Given the description of an element on the screen output the (x, y) to click on. 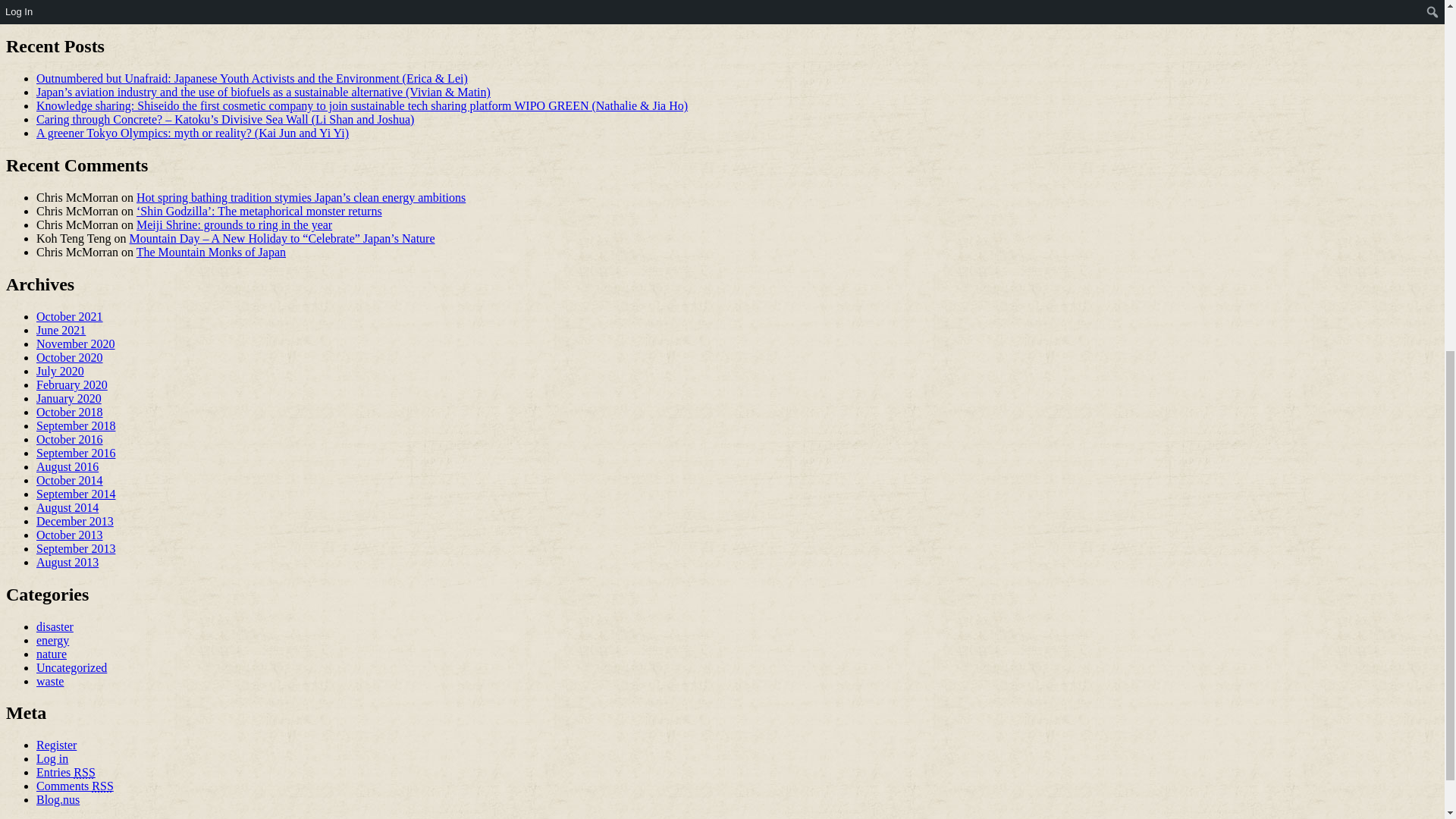
August 2016 (67, 466)
disaster (71, 2)
Powered by Blog.nus (58, 799)
September 2018 (75, 425)
October 2018 (69, 411)
waste (109, 2)
November 2020 (75, 343)
Search (164, 12)
February 2020 (71, 384)
Search (164, 12)
The latest comments to all posts in RSS (74, 785)
June 2021 (60, 329)
October 2021 (69, 316)
September 2016 (75, 452)
Syndicate this site using RSS 2.0 (66, 771)
